Given the description of an element on the screen output the (x, y) to click on. 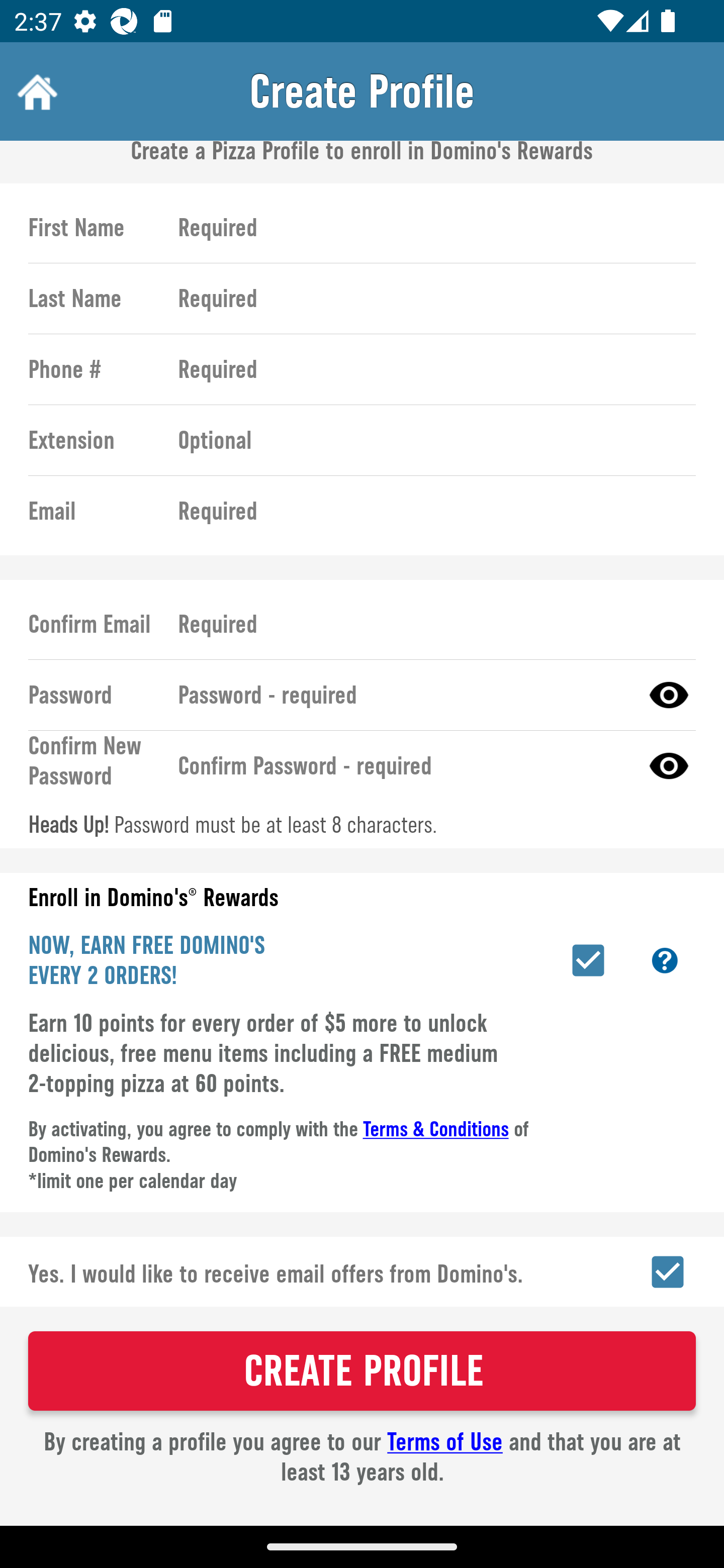
Home (35, 91)
Required First Name is required. 
 (427, 227)
Required Last Name is required. 
 (427, 298)
Required Phone Number is required. 
 (427, 368)
Optional Phone extension, optional (427, 439)
Required Email is required. 
 (427, 510)
Required Confirm Email Address (427, 624)
Password - required (401, 695)
Show Password (668, 695)
Confirm Password - required (401, 765)
Show Password (668, 765)
Enroll in Piece of the Pie Rewards (588, 959)
CREATE PROFILE (361, 1371)
